Given the description of an element on the screen output the (x, y) to click on. 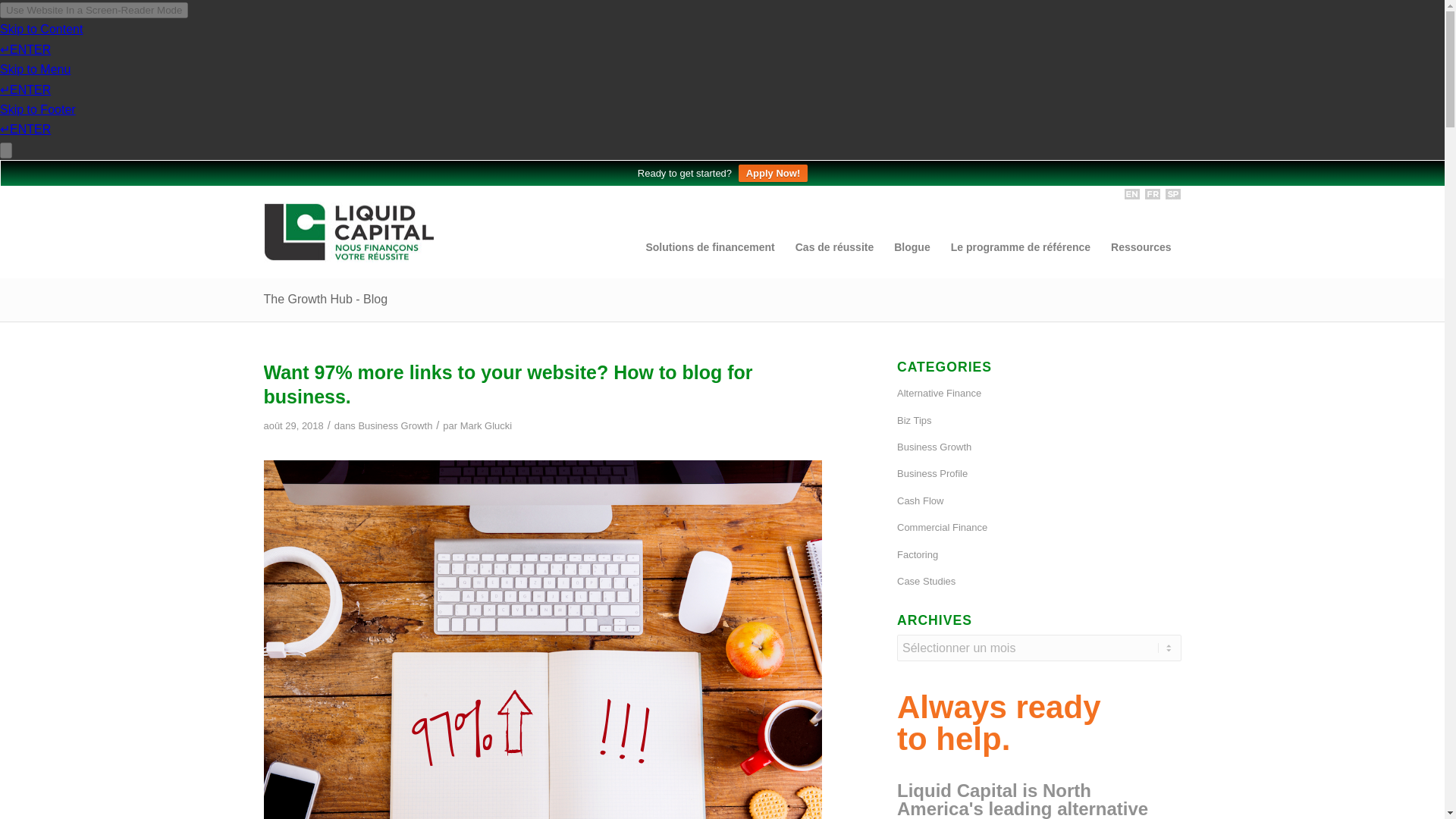
Ressources (1140, 247)
Blogue (911, 247)
Mark Glucki (486, 425)
Solutions de financement (709, 247)
English (1132, 193)
Articles par Mark Glucki (486, 425)
Apply Now! (773, 172)
Business Growth (395, 425)
Lien permanent : The Growth Hub - Blog (325, 298)
The Growth Hub - Blog (325, 298)
